Given the description of an element on the screen output the (x, y) to click on. 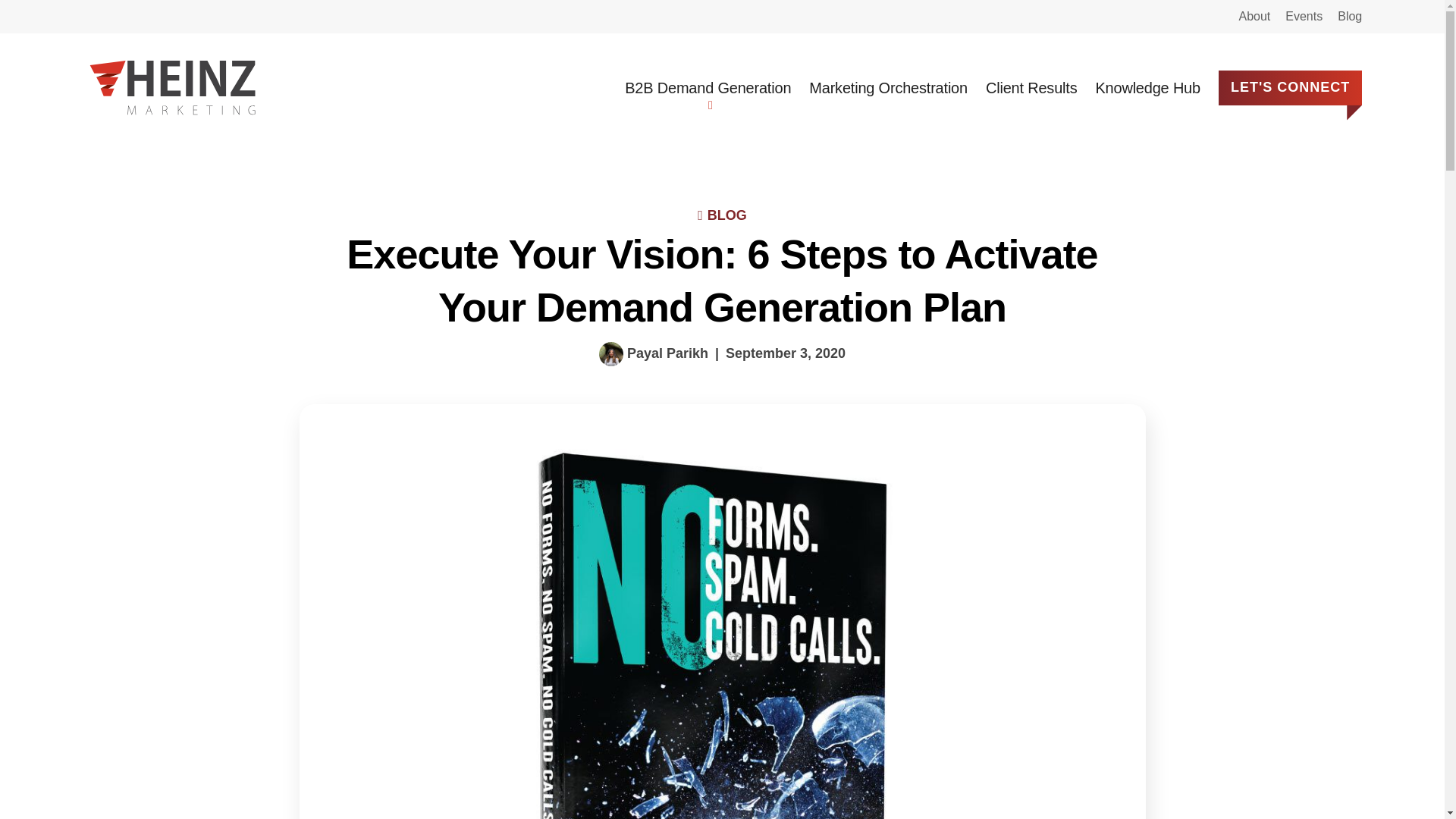
Client Results (1031, 87)
LET'S CONNECT (1289, 87)
Knowledge Hub (1146, 87)
Events (1303, 16)
About (1254, 16)
Back to home (172, 87)
Marketing Orchestration (888, 87)
B2B Demand Generation (707, 87)
Blog (1349, 16)
